Given the description of an element on the screen output the (x, y) to click on. 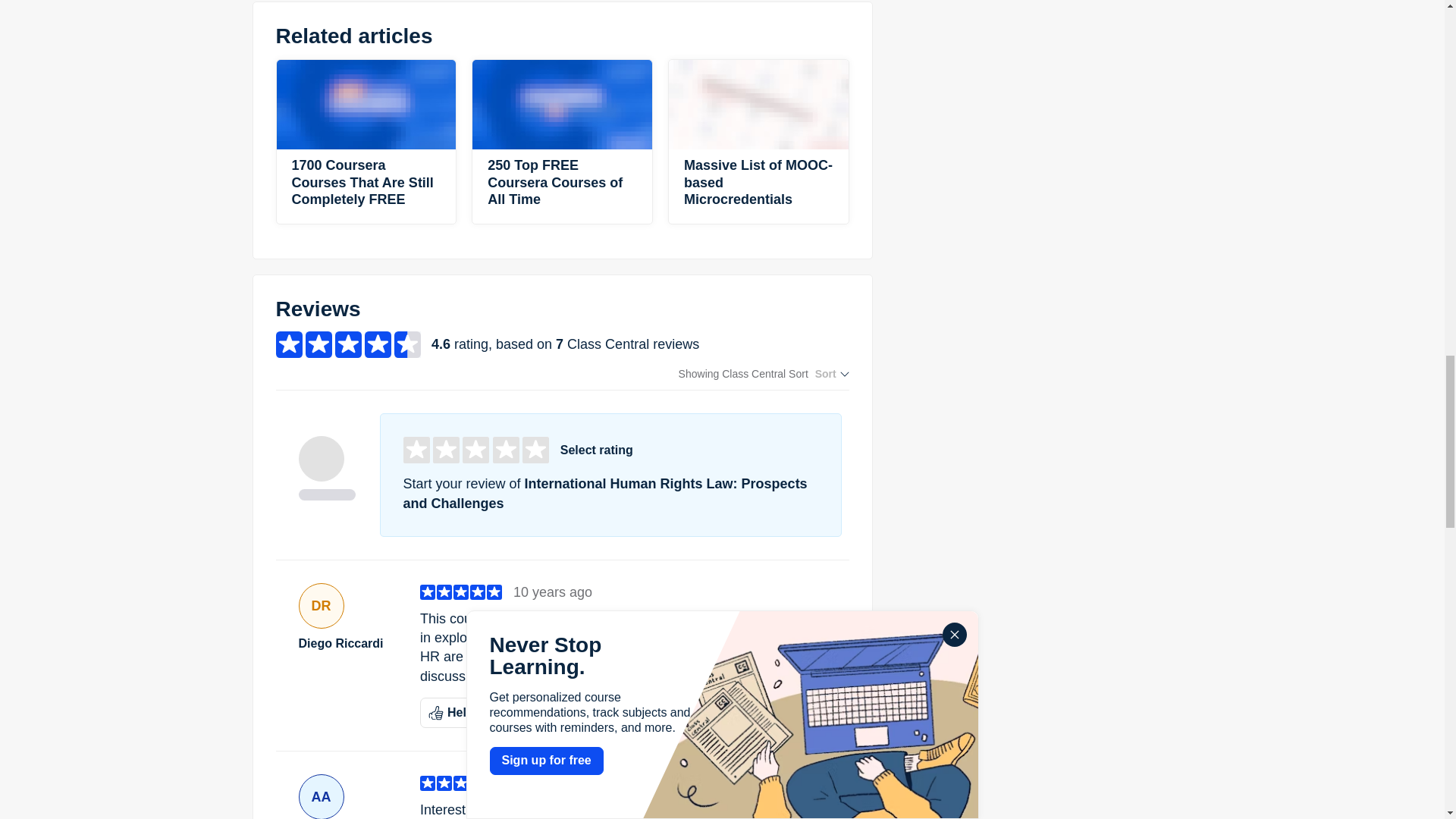
Diego Riccardi (347, 643)
